Given the description of an element on the screen output the (x, y) to click on. 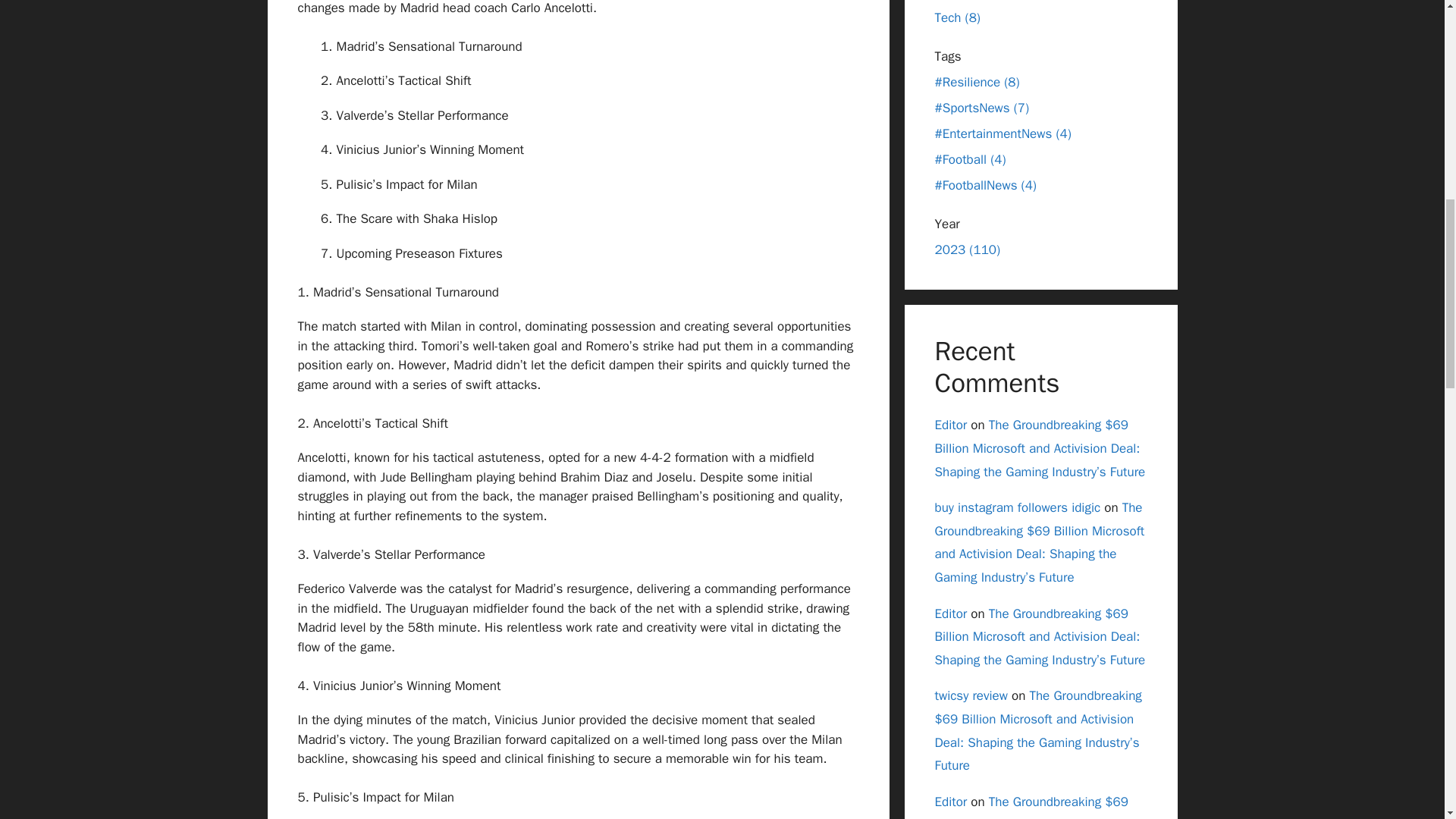
Scroll back to top (1406, 720)
